Given the description of an element on the screen output the (x, y) to click on. 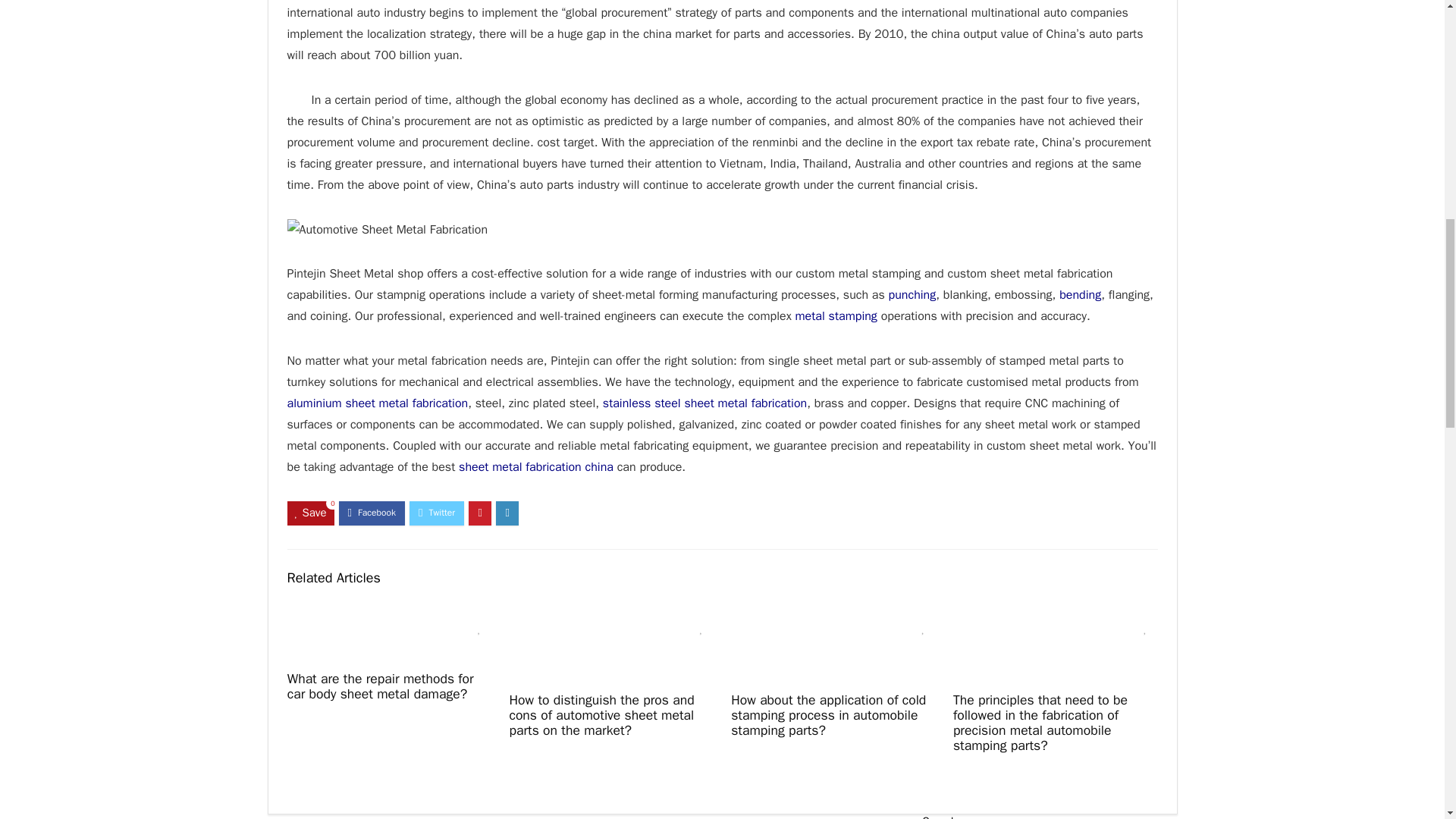
Aluminum Sheet Metal Fabrication (376, 403)
sheet metal fabrication china (535, 467)
Sheet Metal Bending (1079, 294)
Sheet Metal Stamping (835, 315)
aluminium sheet metal fabrication (376, 403)
metal stamping (835, 315)
bending (1079, 294)
stainless steel sheet metal fabrication (704, 403)
Stainless Steel Sheet Metal Fabrication (704, 403)
Sheet Metal Punching (912, 294)
punching (912, 294)
What are the repair methods for car body sheet metal damage? (380, 685)
